Given the description of an element on the screen output the (x, y) to click on. 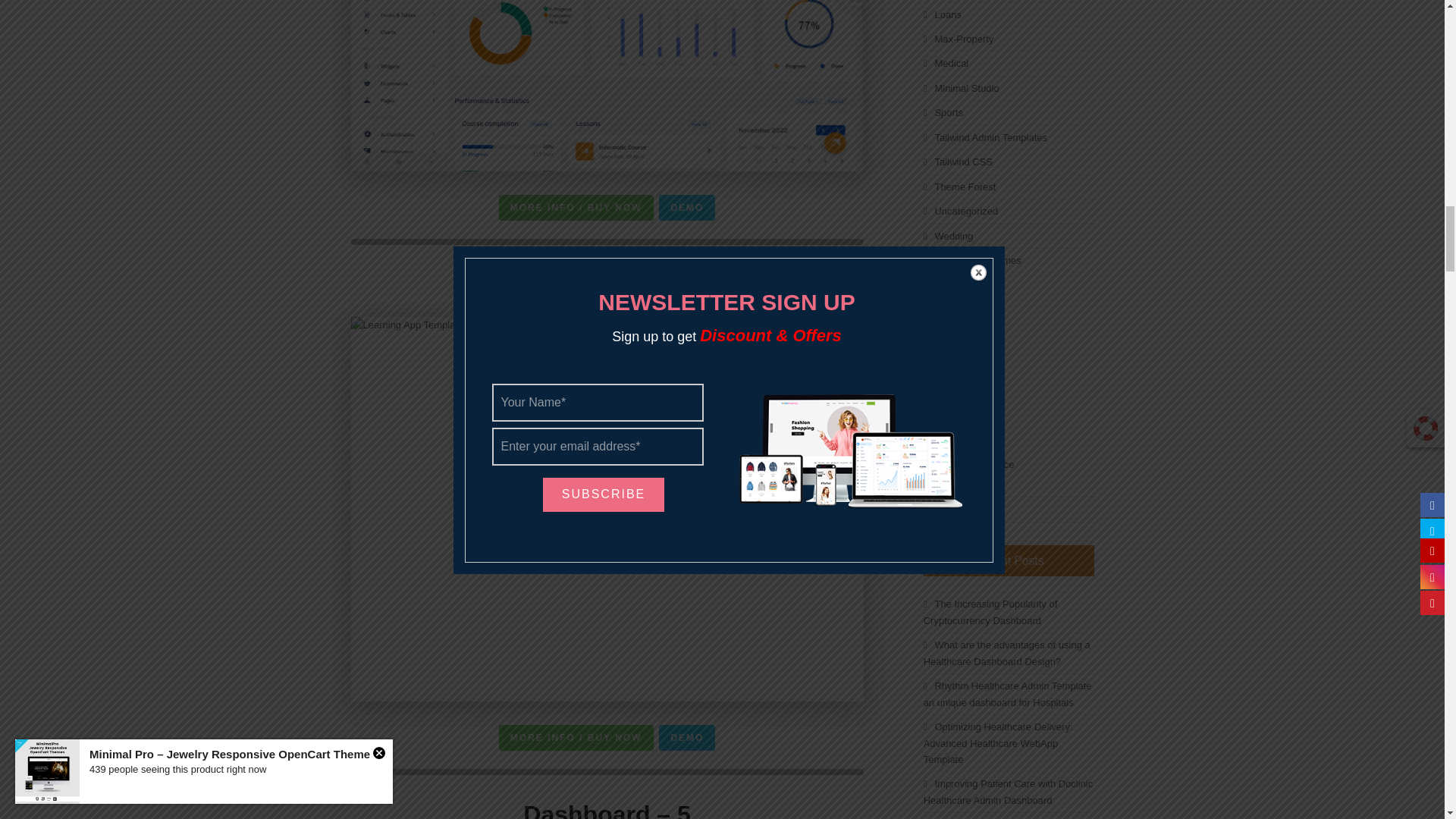
DEMO (686, 737)
DEMO (686, 207)
